Given the description of an element on the screen output the (x, y) to click on. 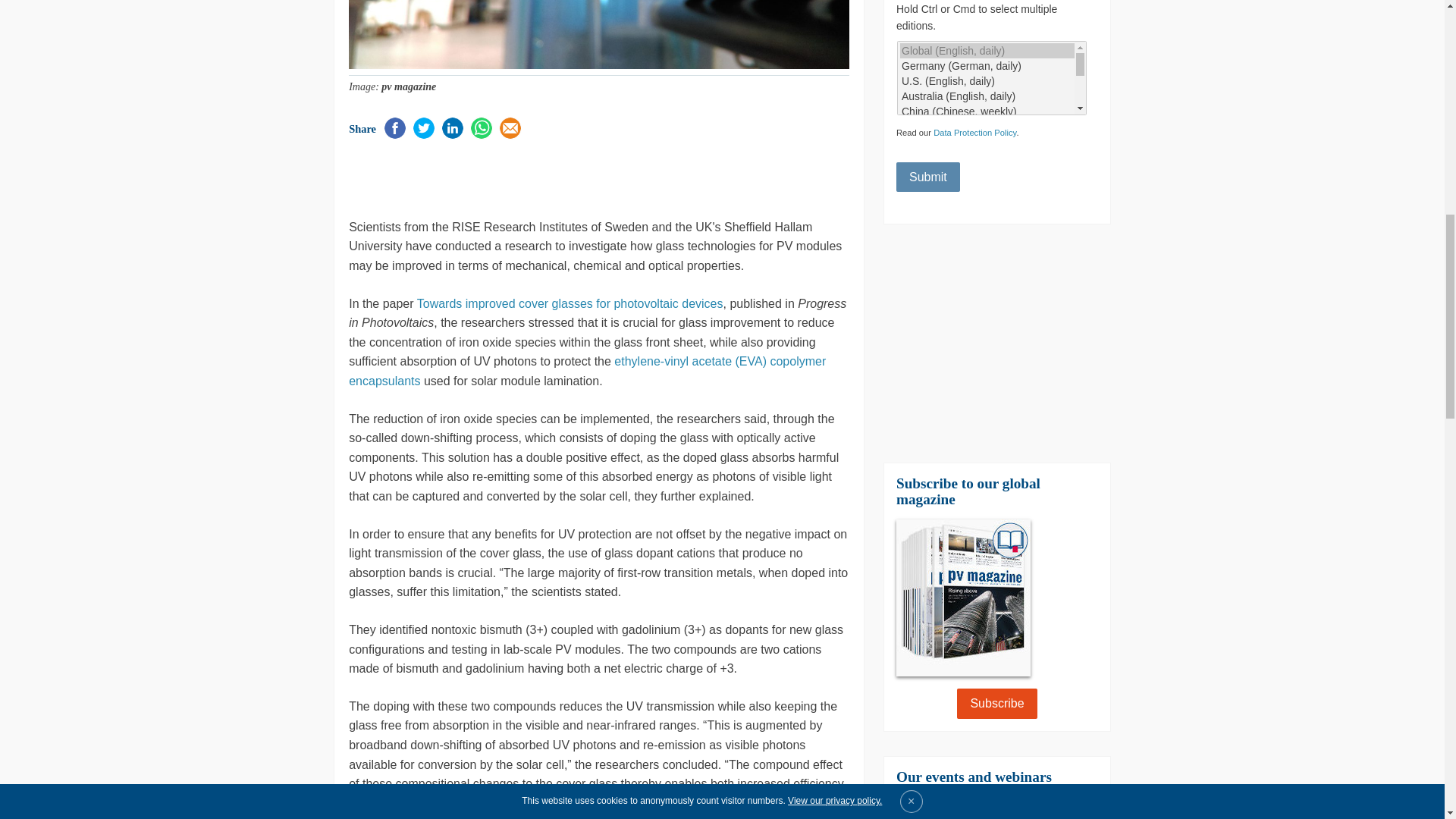
Submit (927, 177)
3rd party ad content (526, 176)
3rd party ad content (996, 343)
